Given the description of an element on the screen output the (x, y) to click on. 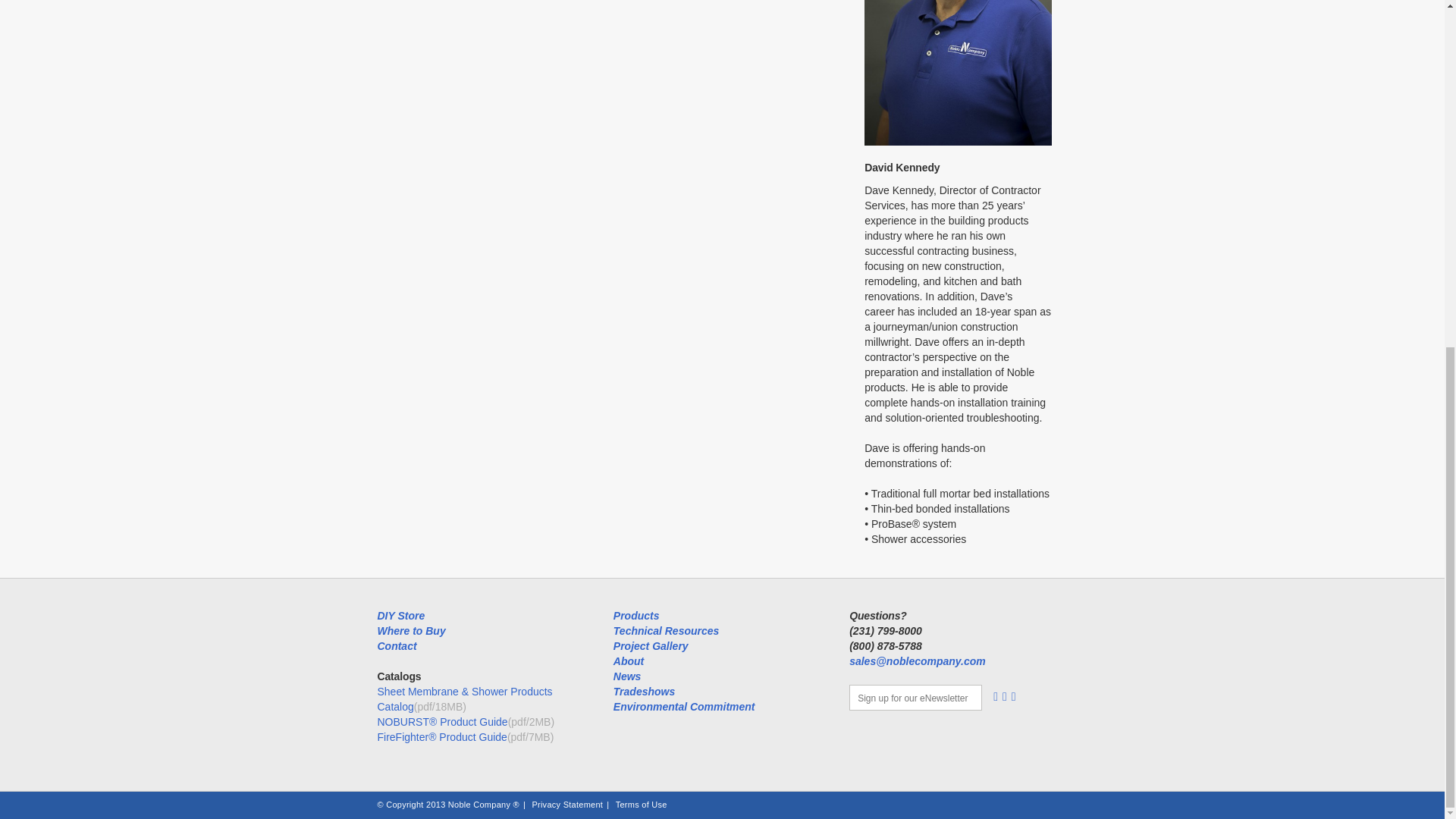
DIY Store (401, 615)
Where to Buy (411, 630)
